Given the description of an element on the screen output the (x, y) to click on. 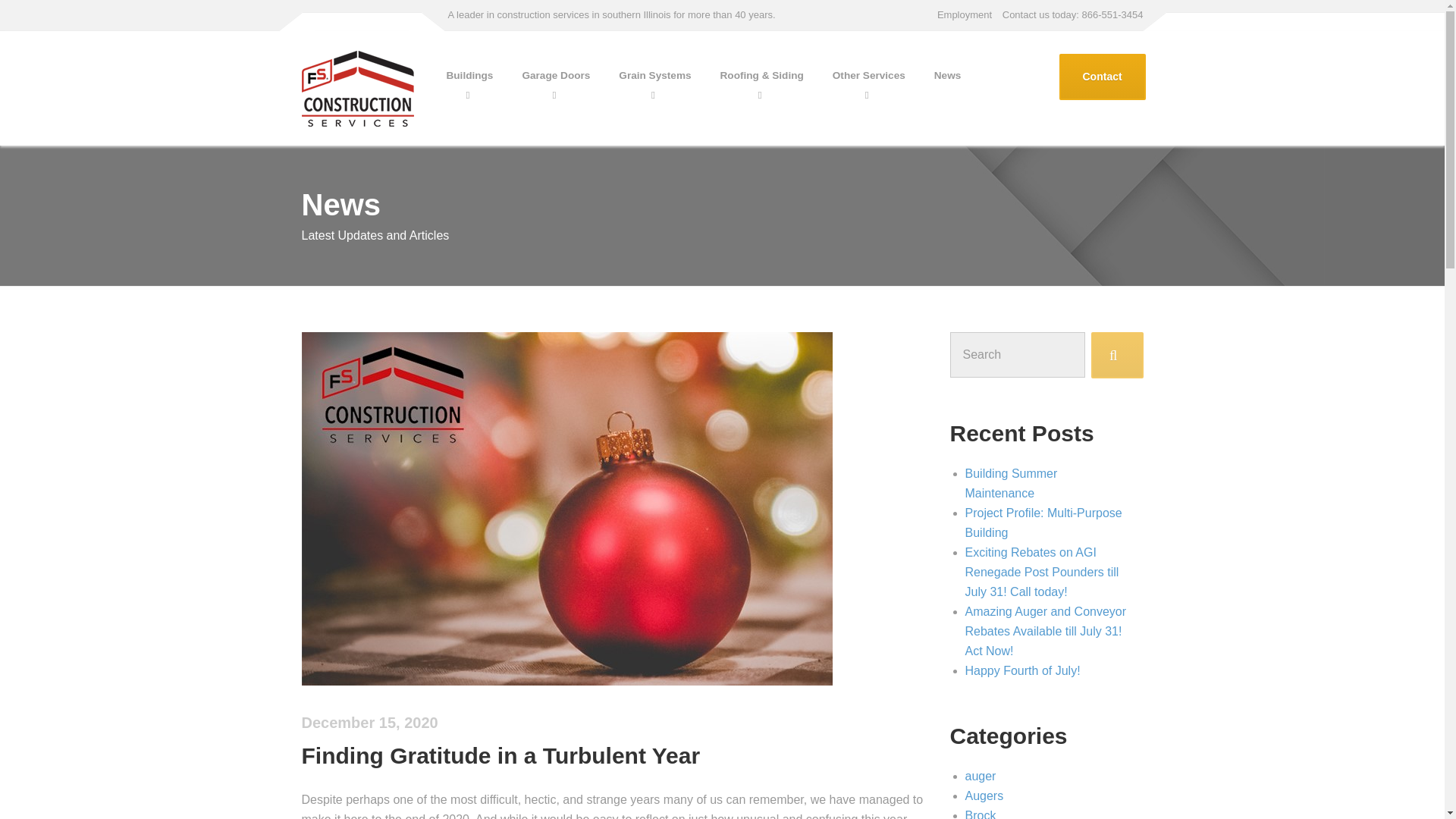
Grain Systems (654, 75)
Employment (964, 15)
Other Services (869, 75)
Contact (1101, 76)
Garage Doors (555, 75)
Contact us today: 866-551-3454 (1070, 15)
